Given the description of an element on the screen output the (x, y) to click on. 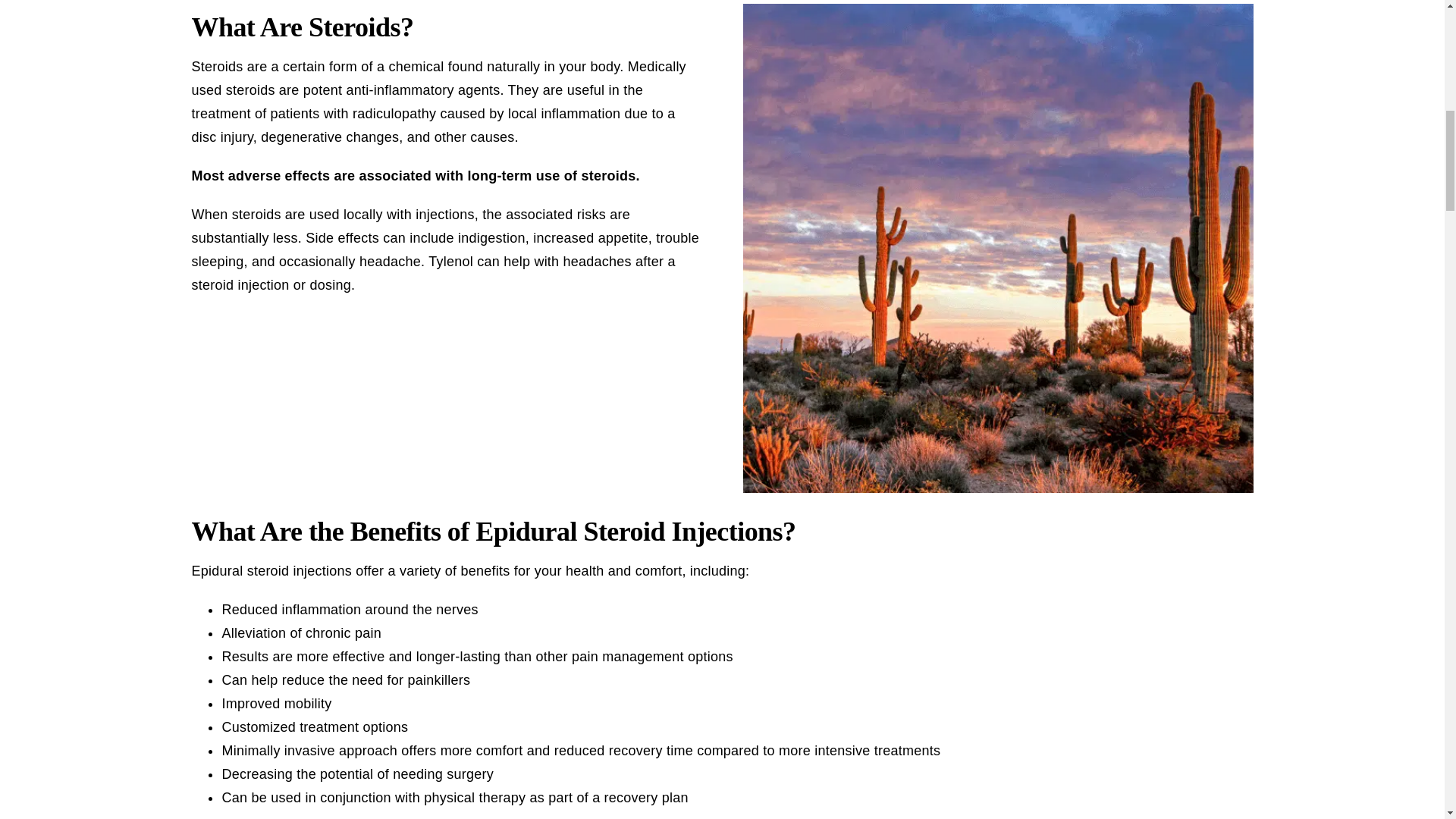
1192405 (997, 9)
